Given the description of an element on the screen output the (x, y) to click on. 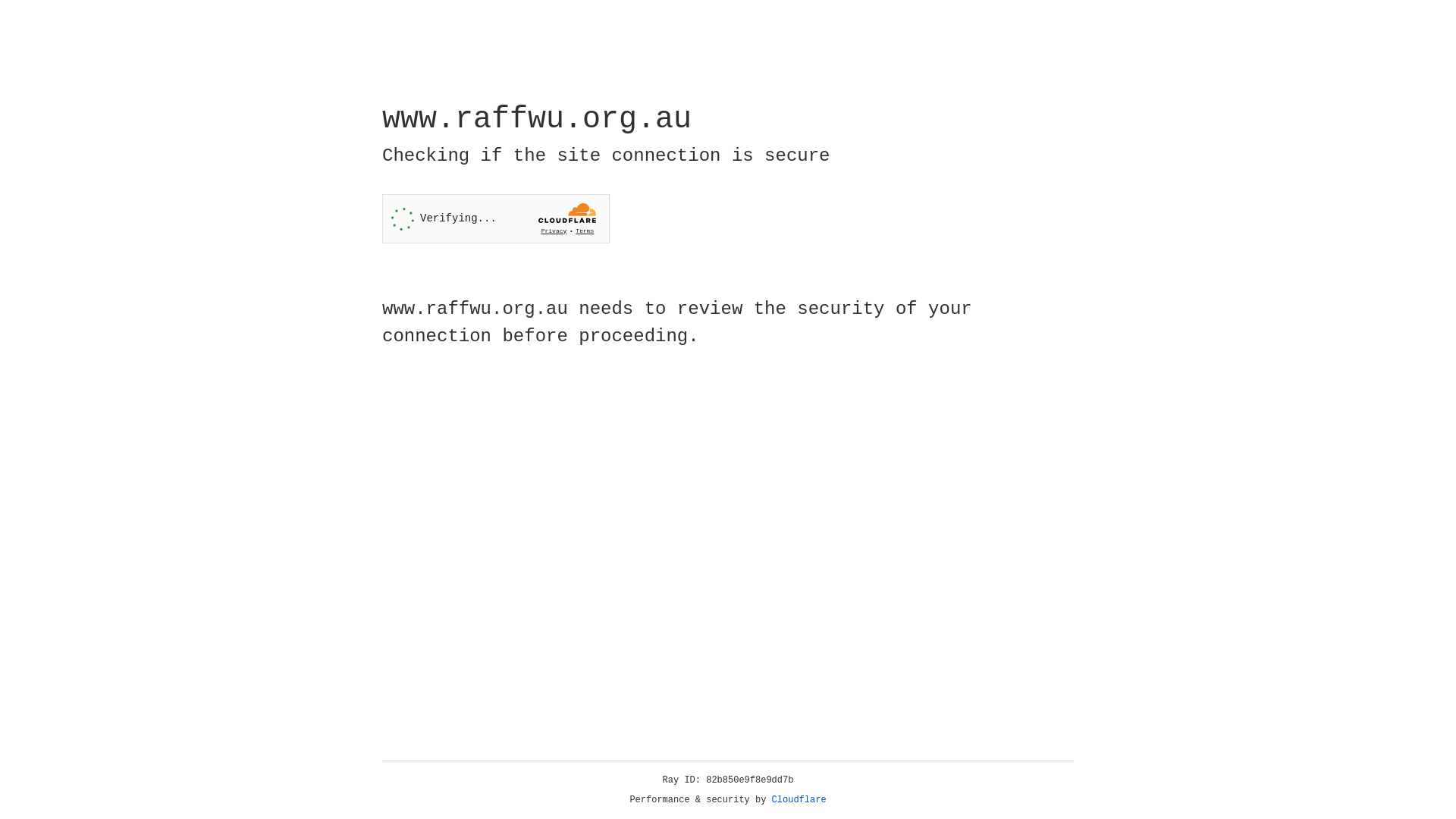
Widget containing a Cloudflare security challenge Element type: hover (495, 218)
Cloudflare Element type: text (798, 799)
